Given the description of an element on the screen output the (x, y) to click on. 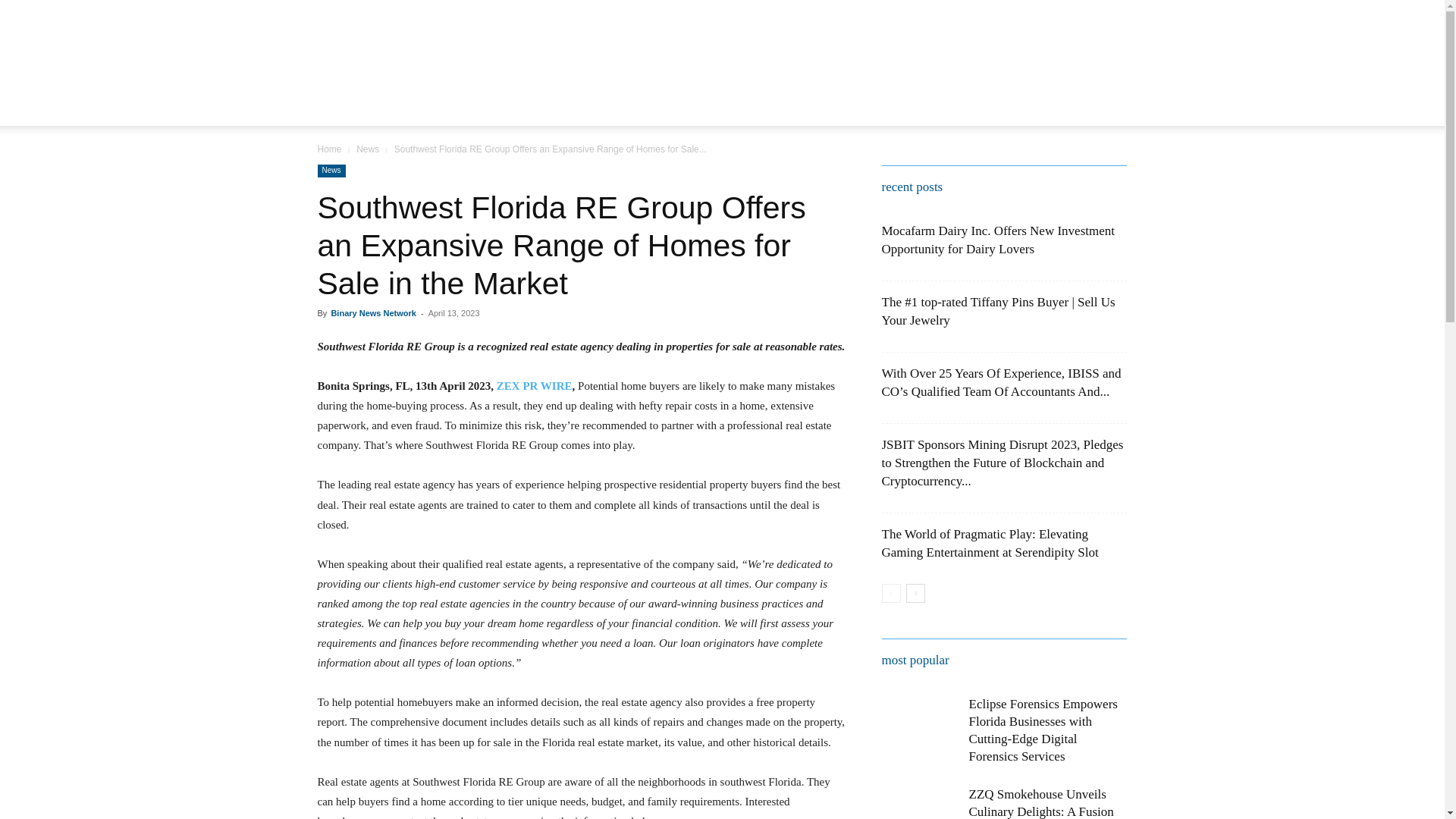
Entrepreneurs (556, 112)
Top Global News (955, 112)
Investments (647, 112)
News (484, 112)
Search (1085, 168)
Technology (729, 112)
Binary News Network (372, 312)
Business (867, 112)
News (331, 170)
ZEX PR WIRE (534, 386)
Home (328, 149)
View all posts in News (367, 149)
News (367, 149)
Markets (802, 112)
